Given the description of an element on the screen output the (x, y) to click on. 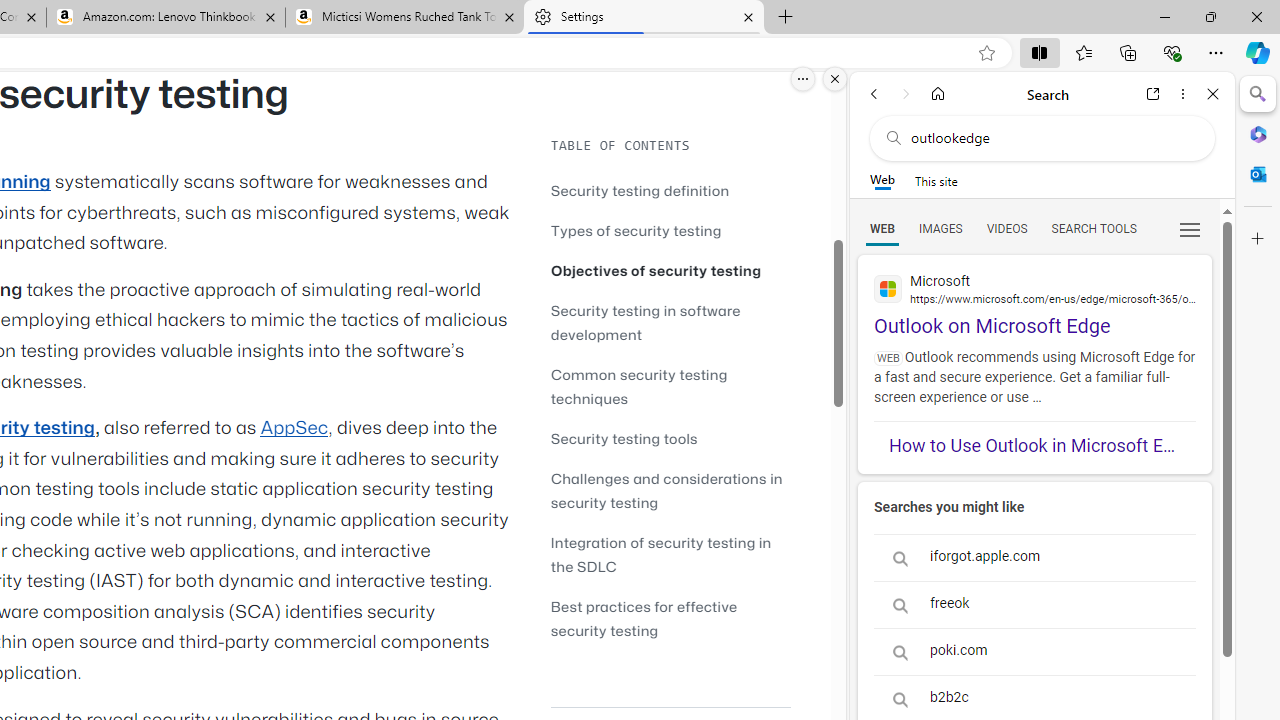
Close split screen. (835, 79)
Microsoft (1034, 288)
Search Filter, WEB (882, 228)
More options. (803, 79)
Objectives of security testing (670, 269)
WEB   (882, 228)
poki.com (1034, 652)
Forward (906, 93)
Search Filter, VIDEOS (1006, 228)
Open link in new tab (1153, 93)
